Given the description of an element on the screen output the (x, y) to click on. 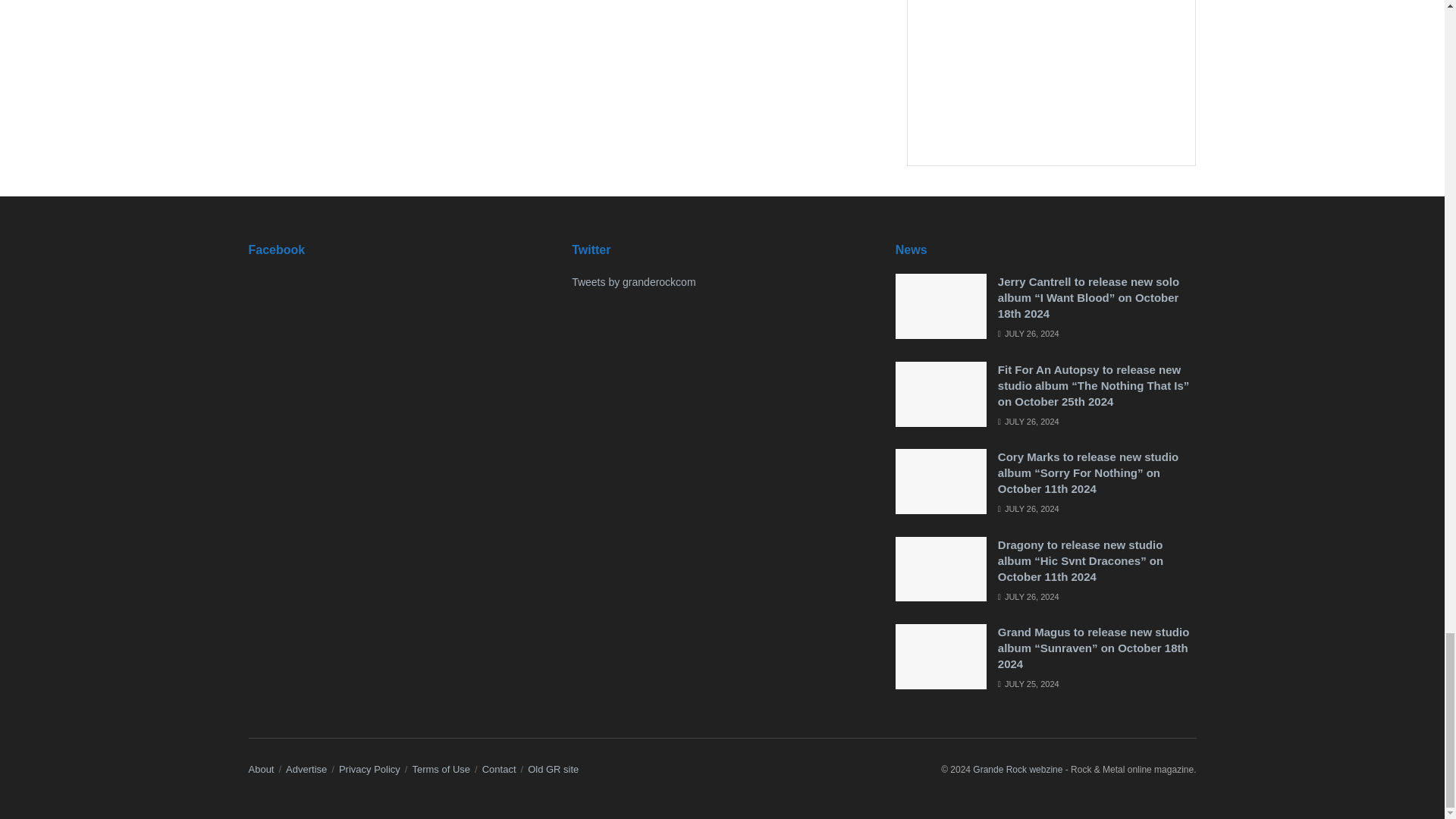
Grande Rock webzine (1017, 769)
